Given the description of an element on the screen output the (x, y) to click on. 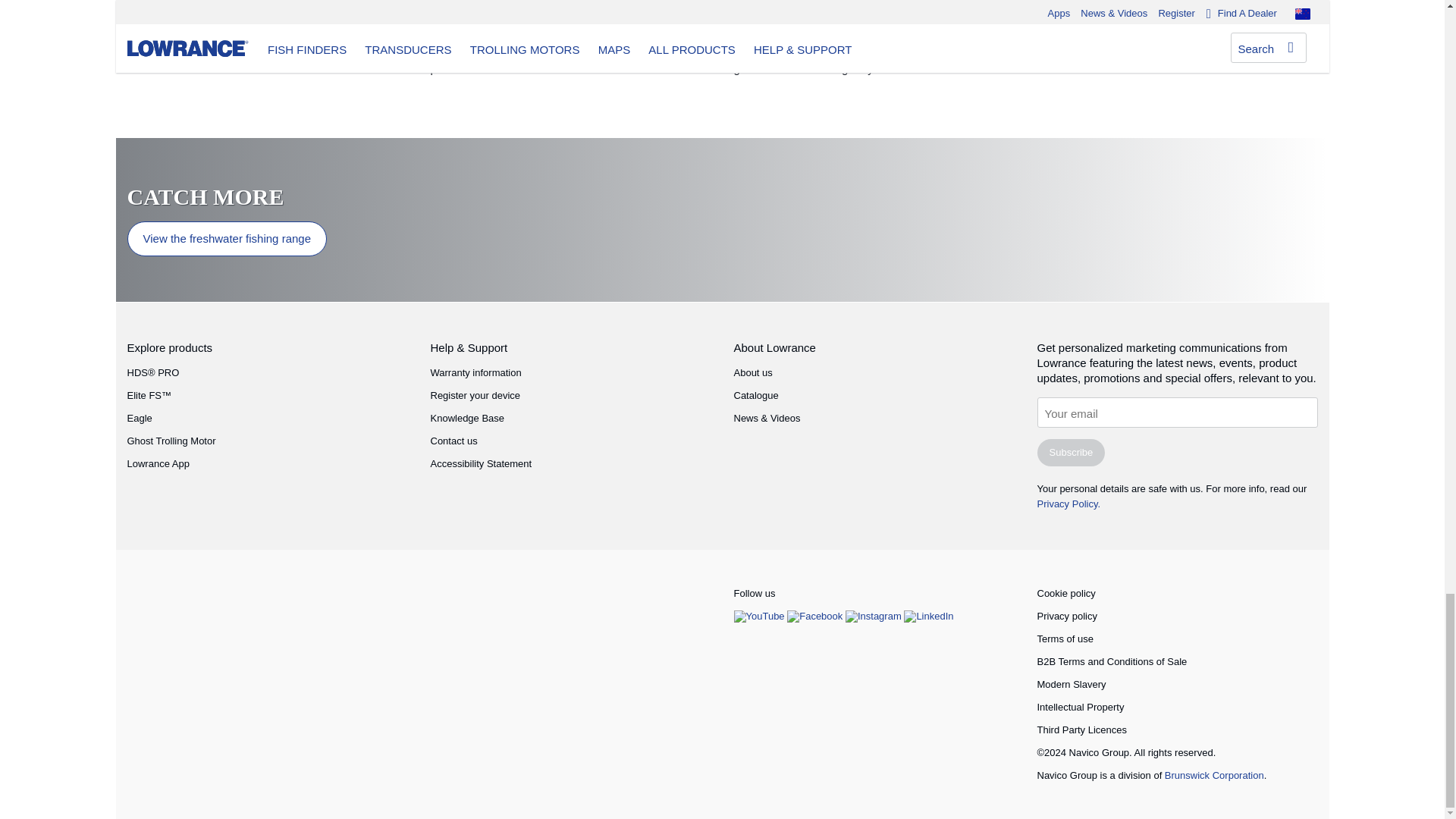
Subscribe (1070, 452)
YouTube (760, 615)
LinkedIn (928, 615)
Instagram (874, 615)
Facebook (816, 615)
